Given the description of an element on the screen output the (x, y) to click on. 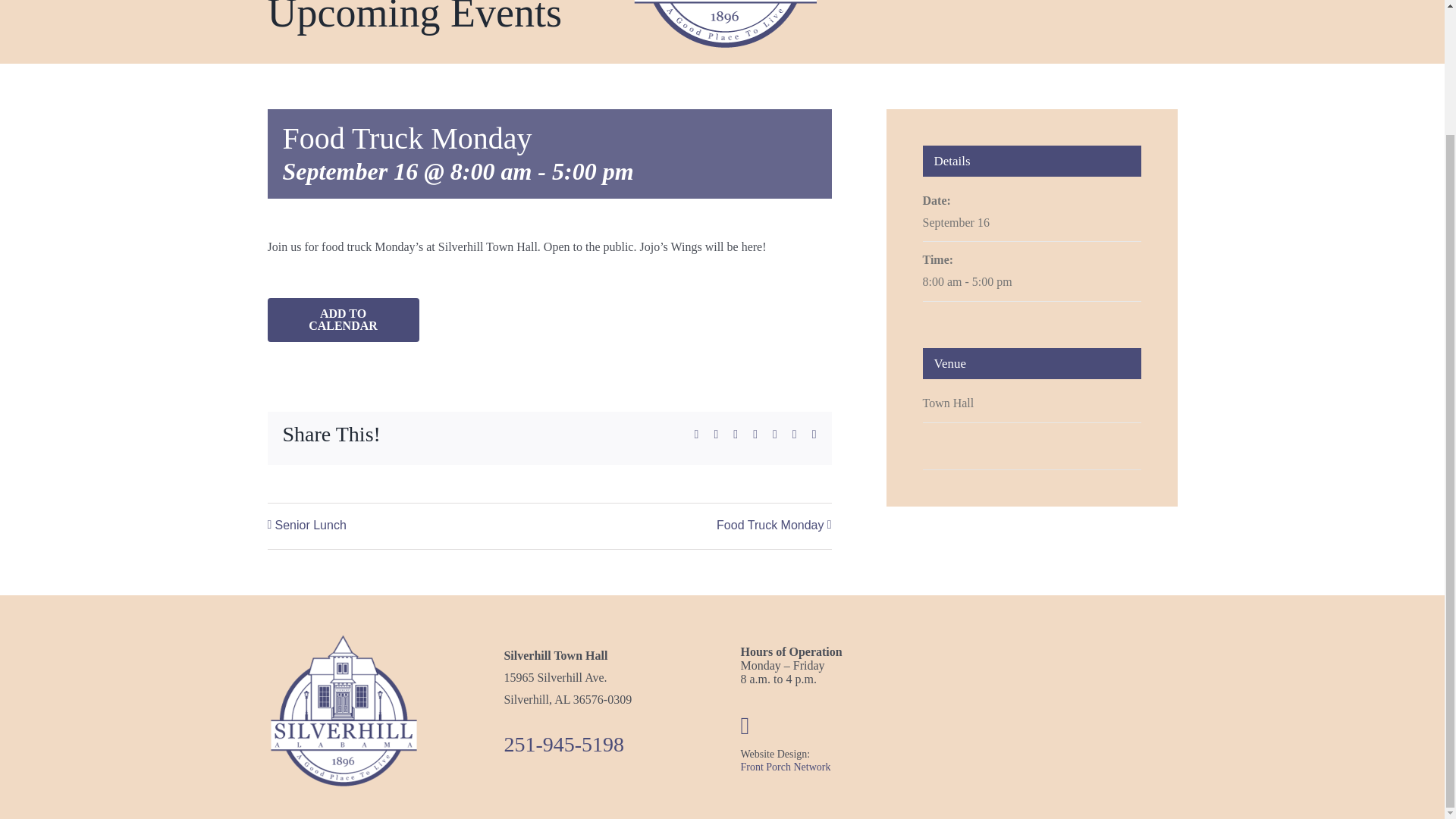
Town of Silverhill Alabama (342, 710)
2024-09-16 (1030, 282)
2024-09-16 (954, 222)
